Given the description of an element on the screen output the (x, y) to click on. 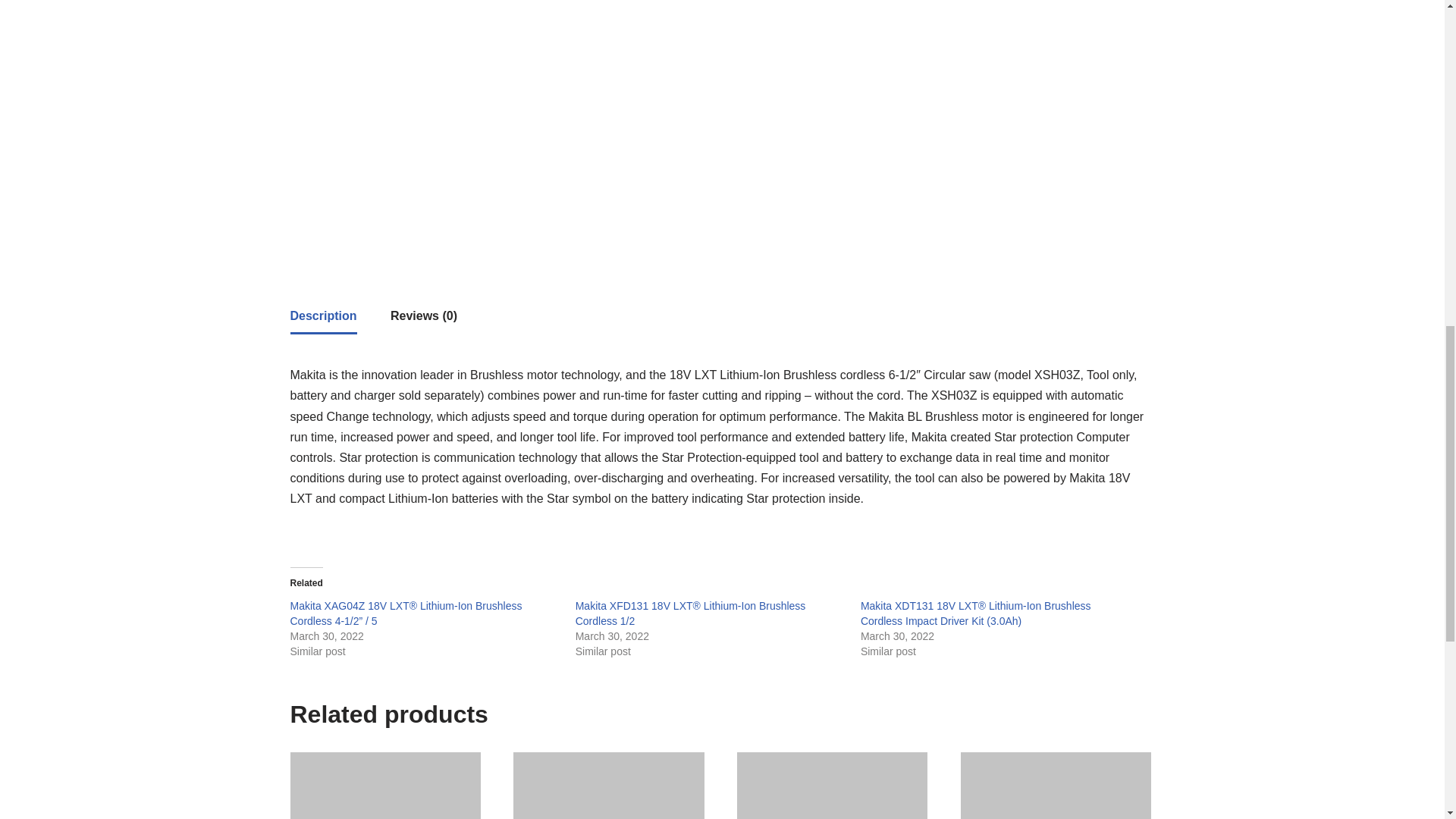
Advertisement (946, 103)
Description (322, 315)
